Given the description of an element on the screen output the (x, y) to click on. 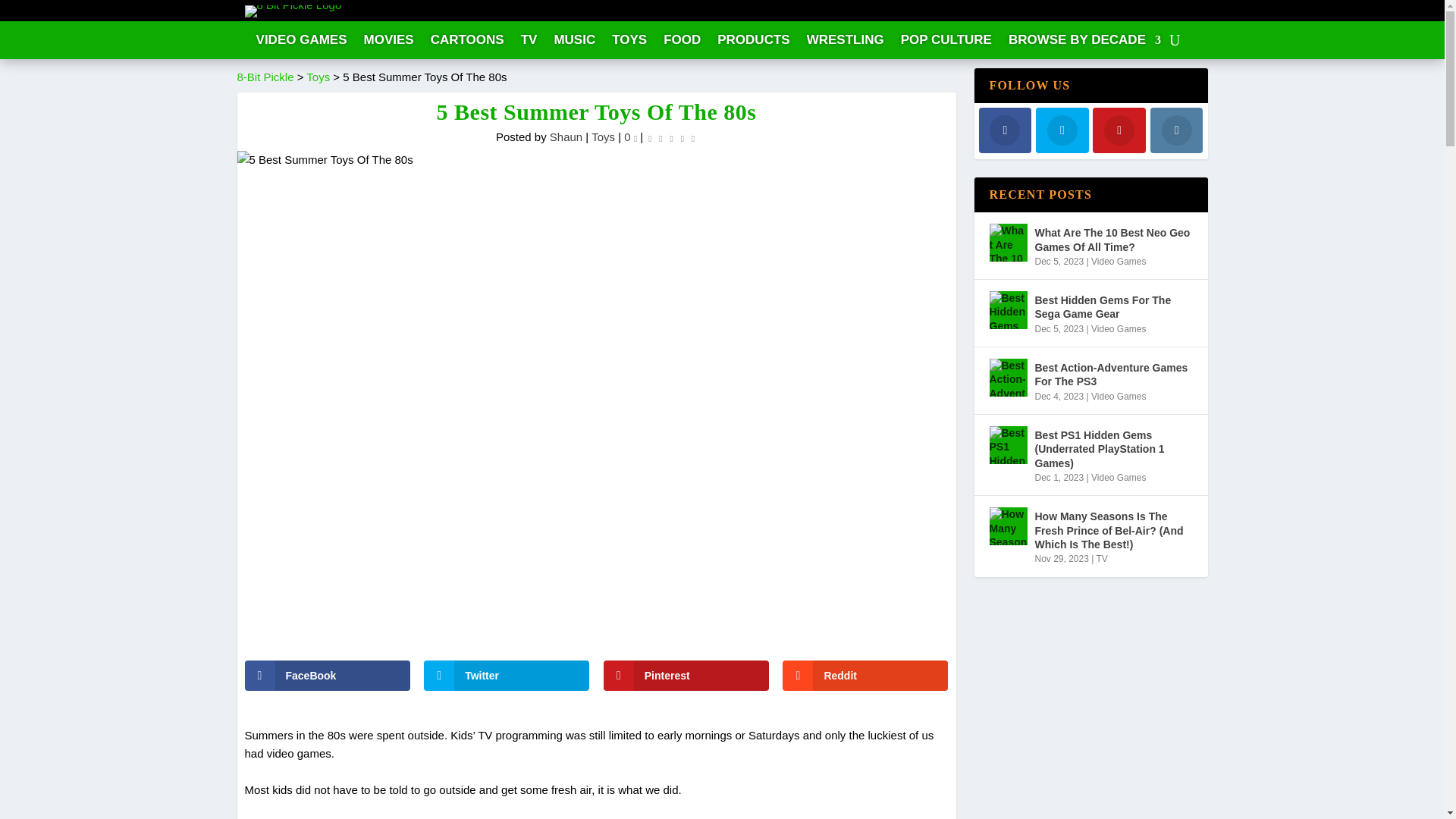
Posts by Shaun (566, 136)
FOOD (681, 42)
0 (630, 136)
POP CULTURE (946, 42)
8-Bit Pickle (264, 76)
PRODUCTS (753, 42)
FaceBook (326, 675)
Rating: 0.00 (671, 137)
WRESTLING (844, 42)
MOVIES (388, 42)
